Given the description of an element on the screen output the (x, y) to click on. 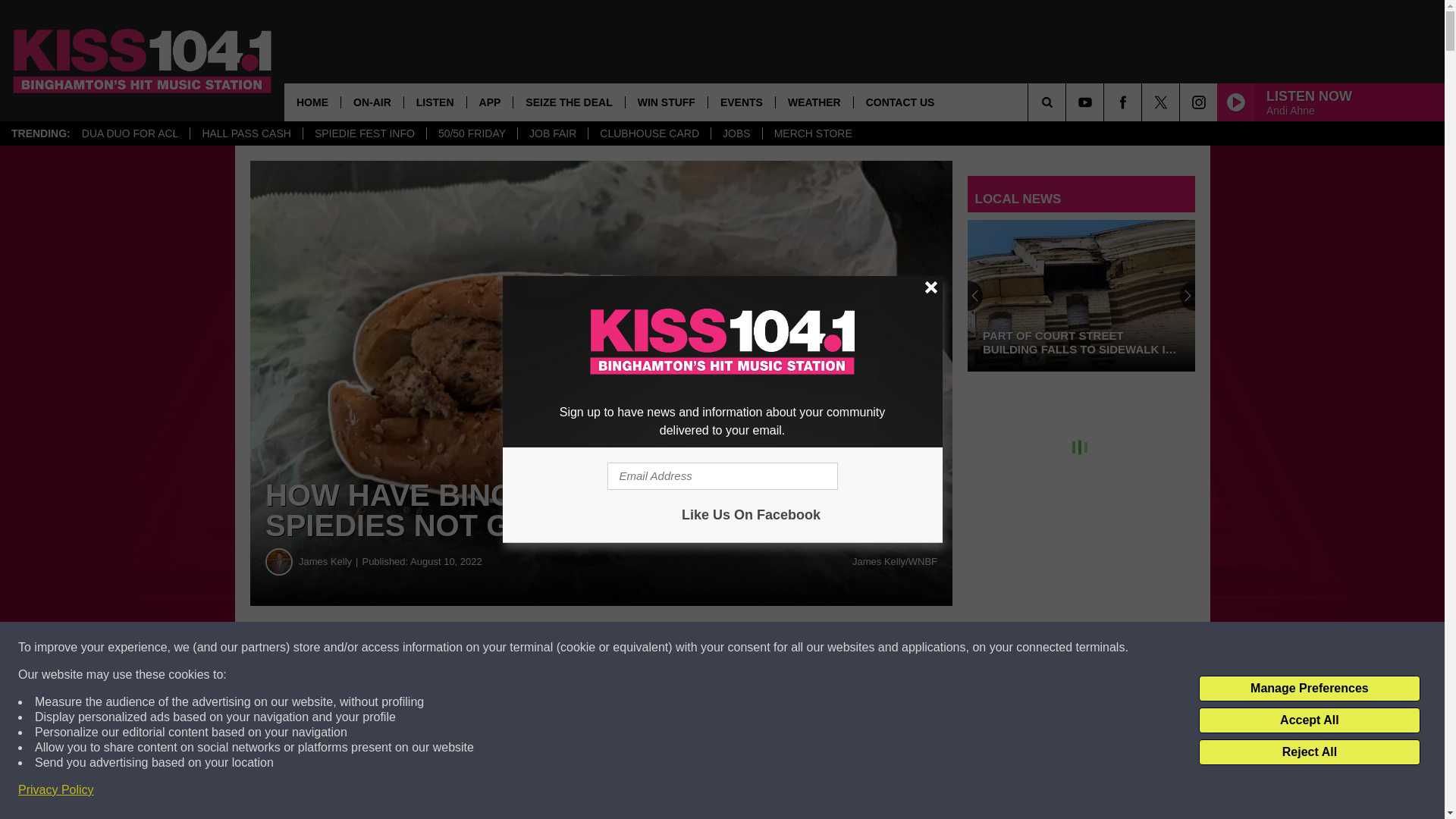
SEARCH (1068, 102)
SEARCH (1068, 102)
JOB FAIR (552, 133)
Share on Facebook (460, 647)
Share on Twitter (741, 647)
EVENTS (740, 102)
APP (489, 102)
MERCH STORE (812, 133)
LISTEN (434, 102)
HOME (311, 102)
WEATHER (813, 102)
JOBS (735, 133)
Email Address (722, 475)
DUA DUO FOR ACL (129, 133)
WIN STUFF (665, 102)
